Given the description of an element on the screen output the (x, y) to click on. 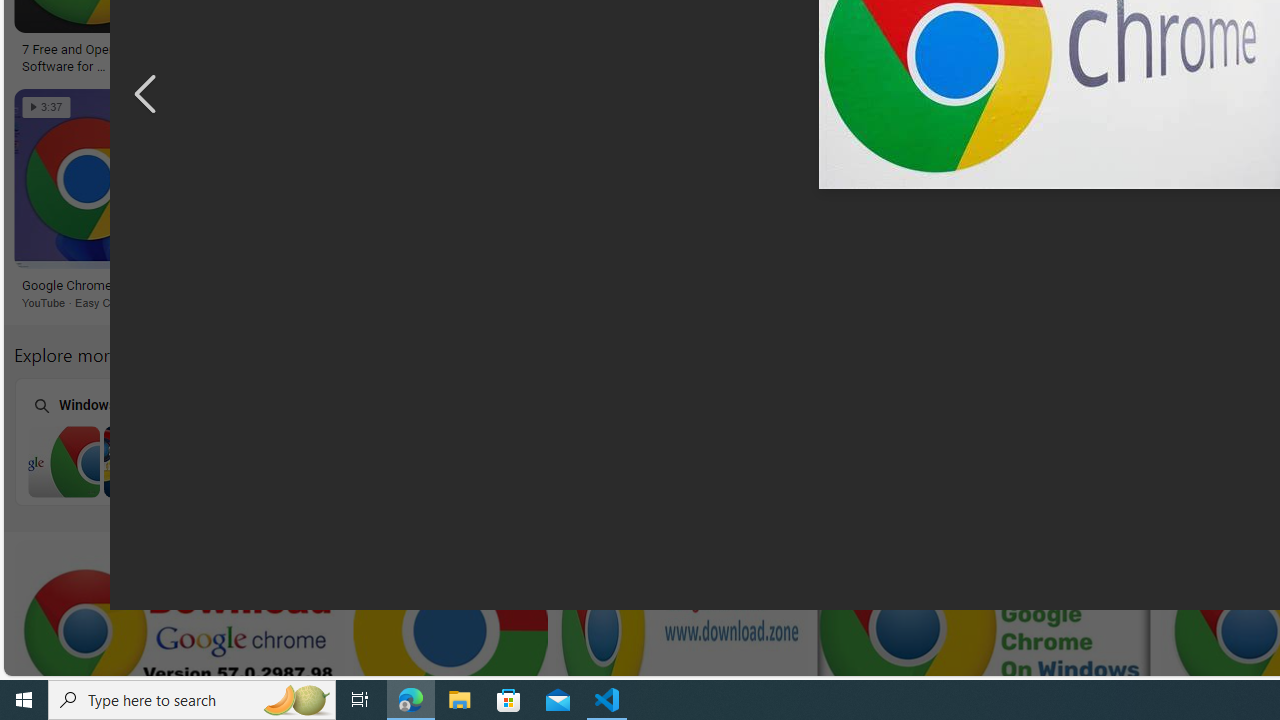
Download Google Chrome As My Web Browser (479, 286)
Download internet explorer 9.0 free - snorobotSave (821, 202)
Download Google Chrome As My Web BrowserSave (498, 202)
Descargar Google Chrome Para Pc 2021 Windows 7810 (345, 50)
Windows 7 (138, 440)
Chrome Browser Download Windows 10 (908, 461)
How to download google chrome apps - snoml (852, 56)
Download Google Chrome As My Web Browser (494, 286)
Windows 10 64-Bit (651, 440)
Download internet explorer 9.0 free - snorobot (800, 286)
All Categories - humanrewa (1024, 50)
